Given the description of an element on the screen output the (x, y) to click on. 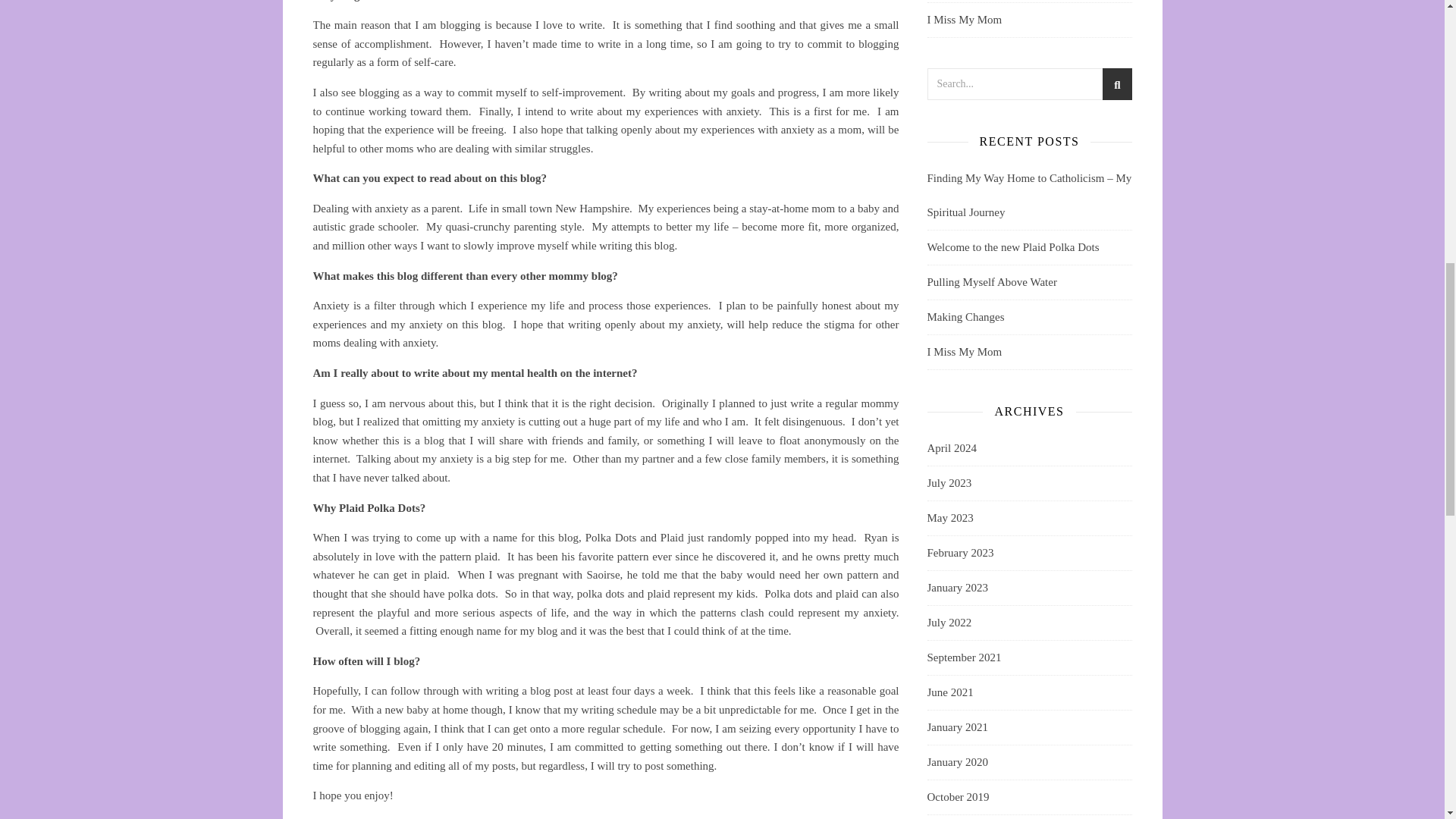
I Miss My Mom (963, 351)
Welcome to the new Plaid Polka Dots (1012, 246)
July 2023 (948, 483)
February 2023 (959, 553)
May 2023 (949, 518)
Pulling Myself Above Water (991, 282)
I Miss My Mom (963, 19)
April 2024 (950, 448)
Making Changes (965, 316)
